Given the description of an element on the screen output the (x, y) to click on. 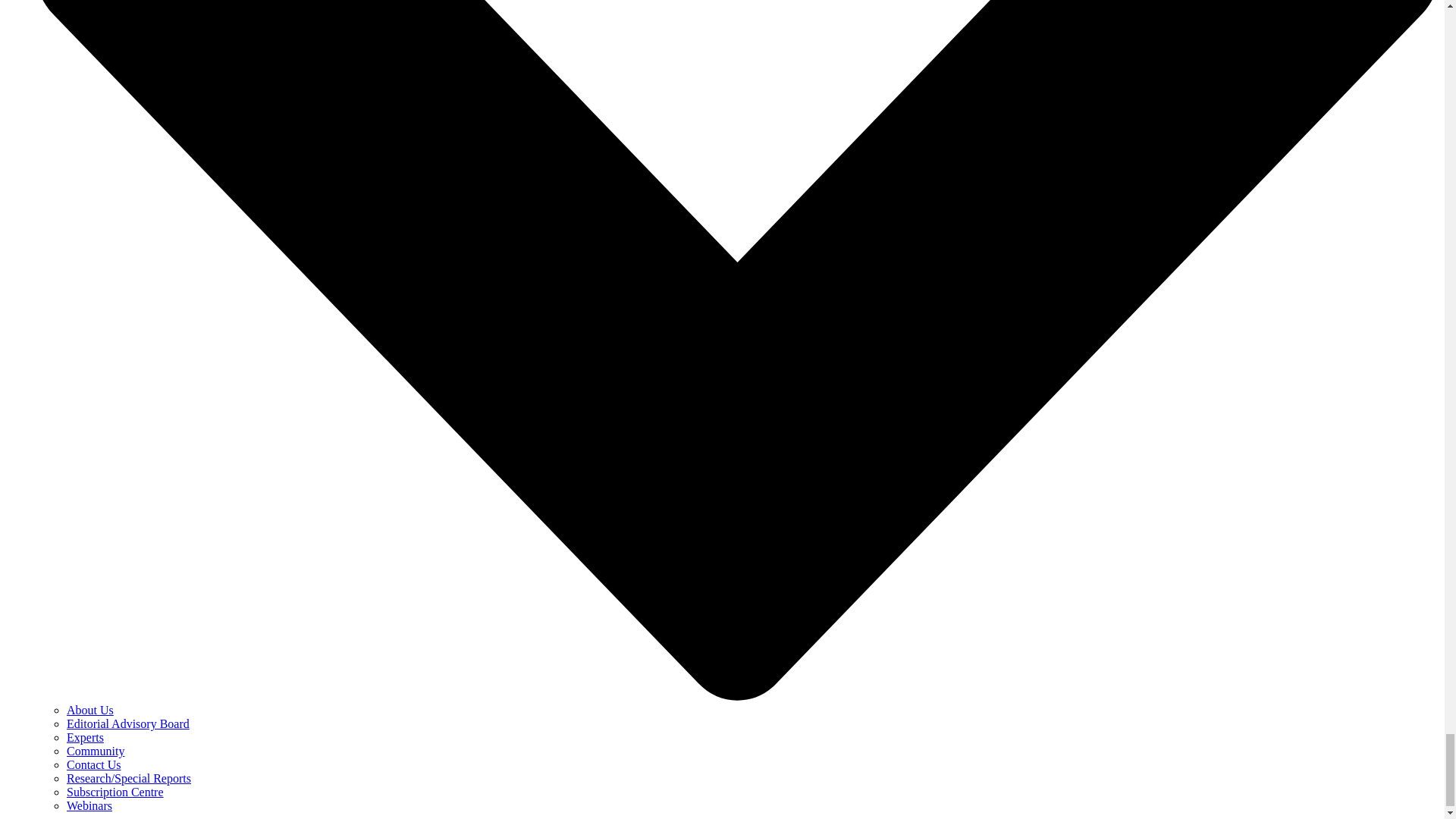
Experts (84, 737)
Contact Us (93, 764)
Community (94, 750)
Webinars (89, 805)
Subscription Centre (114, 791)
About Us (89, 709)
Editorial Advisory Board (127, 723)
